Given the description of an element on the screen output the (x, y) to click on. 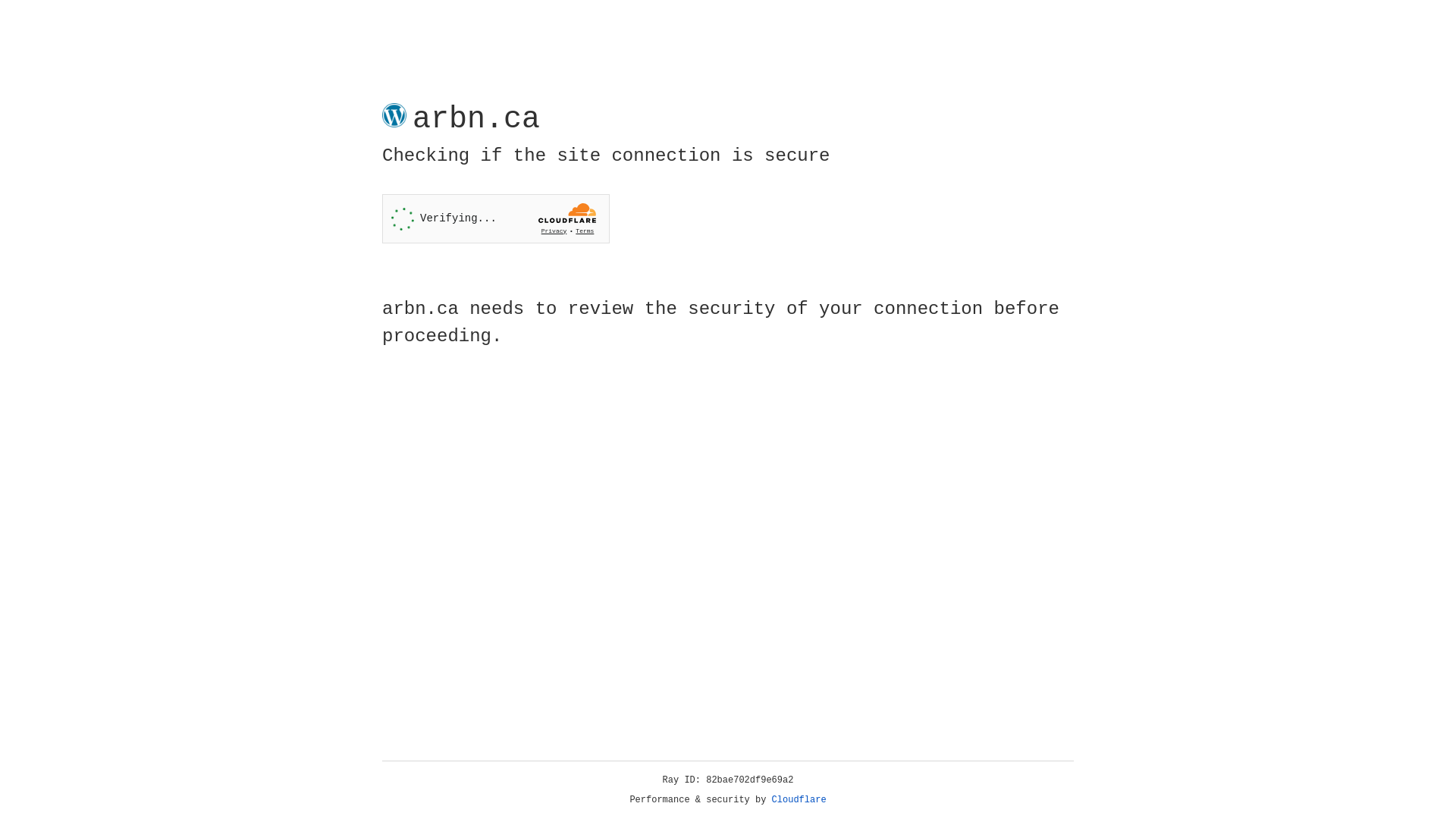
Widget containing a Cloudflare security challenge Element type: hover (495, 218)
Cloudflare Element type: text (798, 799)
